Given the description of an element on the screen output the (x, y) to click on. 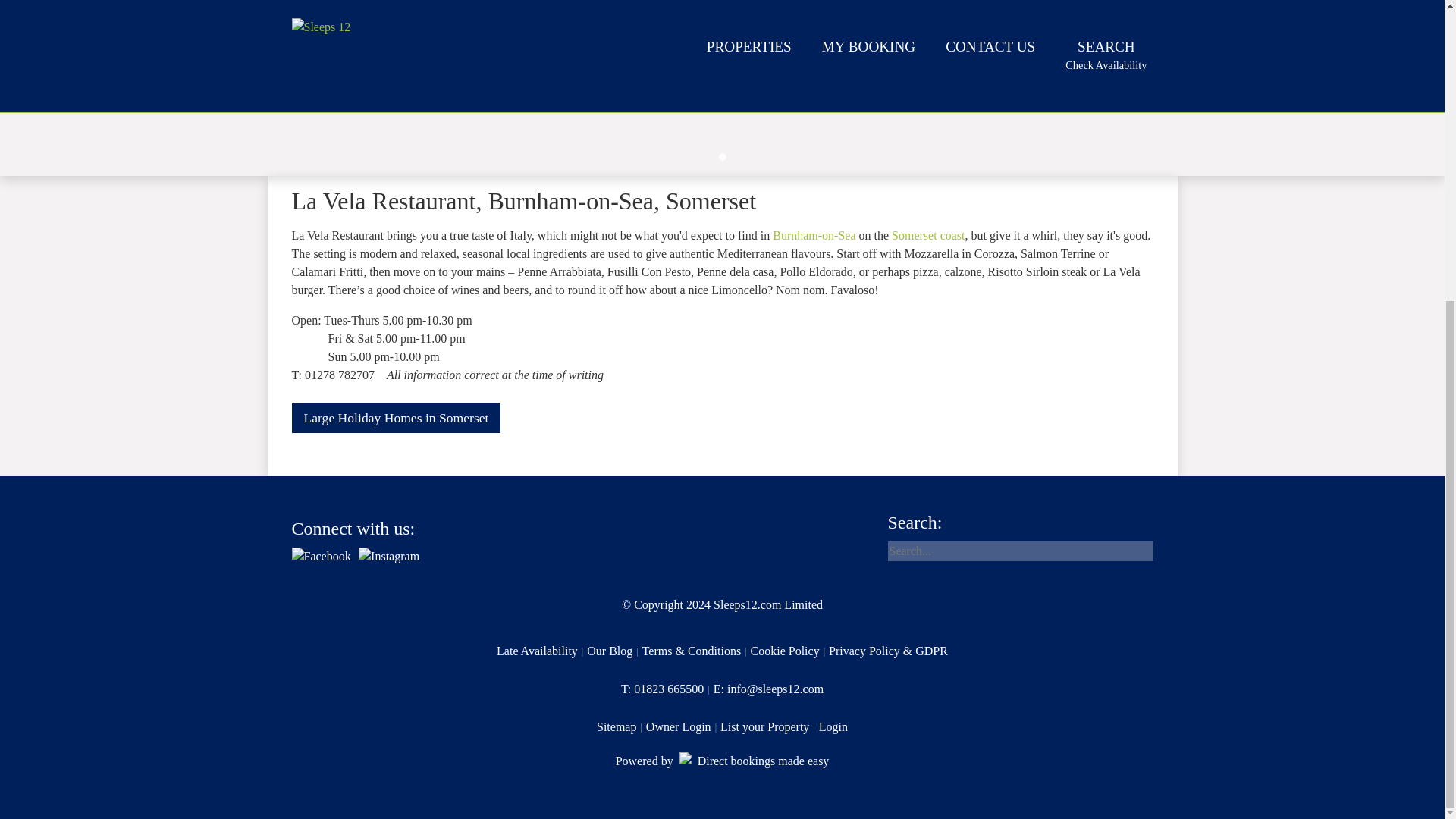
List your Property (769, 727)
Cookie Policy (722, 761)
T: 01823 665500 (790, 651)
Sitemap (667, 688)
Burnham-on-Sea (621, 727)
Late Availability (814, 235)
Owner Login (541, 651)
Large Holiday Homes in Somerset (683, 727)
Login (395, 418)
